Given the description of an element on the screen output the (x, y) to click on. 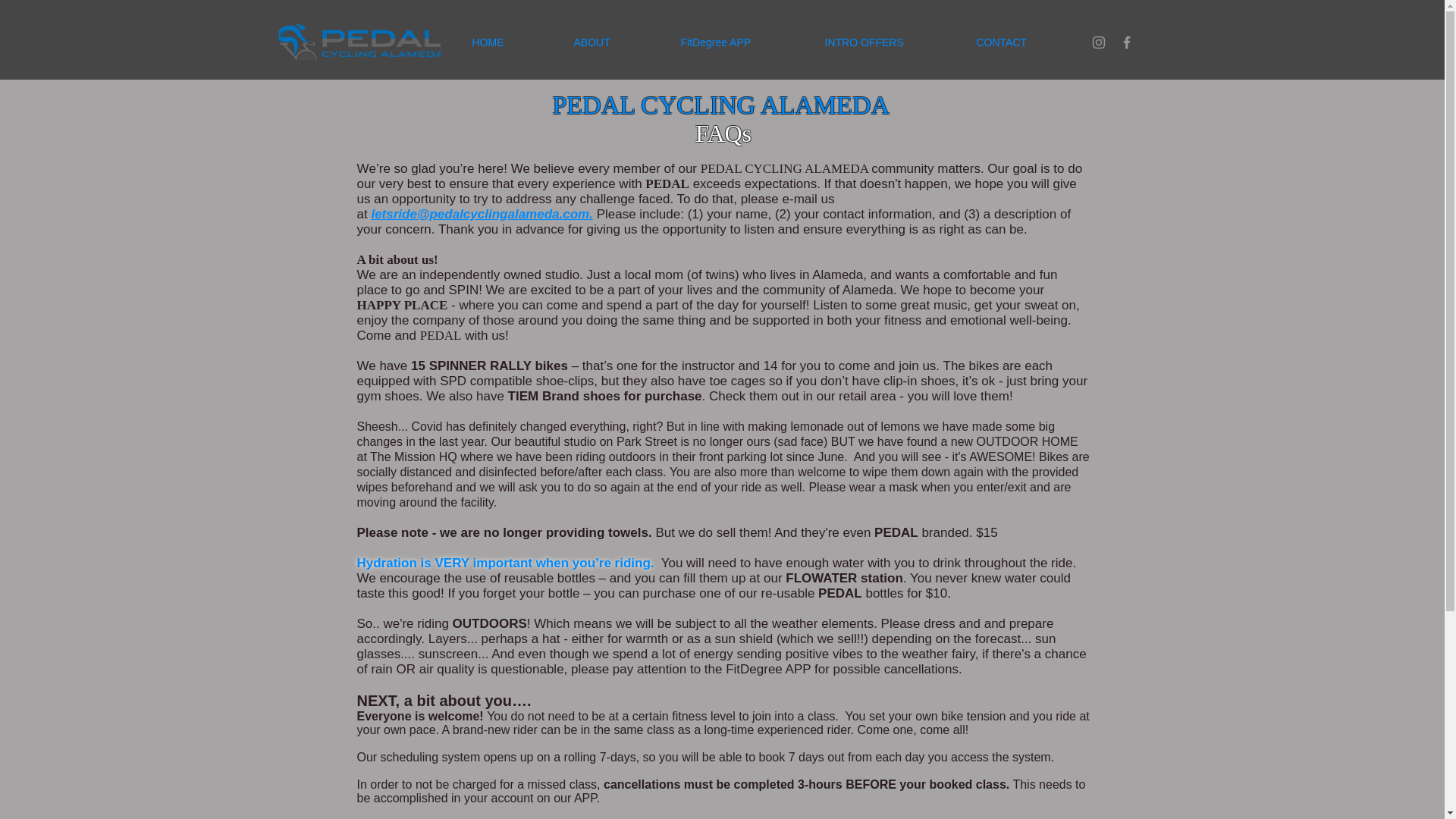
CONTACT (1023, 42)
FitDegree APP (740, 42)
HOME (511, 42)
INTRO OFFERS (887, 42)
ABOUT (615, 42)
